Given the description of an element on the screen output the (x, y) to click on. 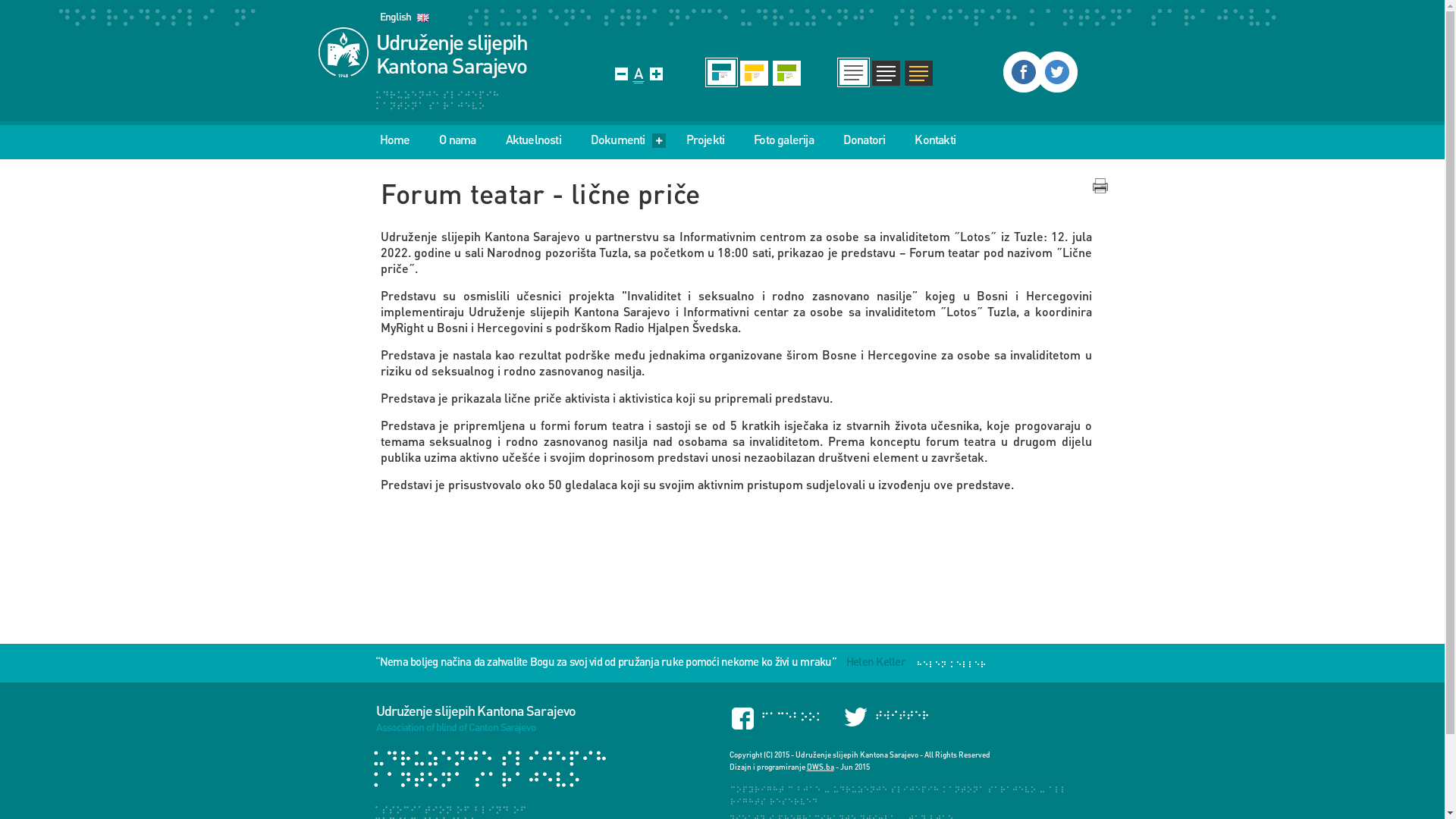
English Element type: text (403, 17)
Donatori Element type: text (864, 139)
Promjeni boju pozadine u Zelenu Element type: hover (786, 72)
Promjeni boju teksta u Crnu Element type: hover (853, 72)
DWS.ba Element type: text (820, 766)
Promjeni boju pozadine u Plavu Element type: hover (721, 72)
Projekti Element type: text (705, 139)
O nama Element type: text (457, 139)
Dokumenti Element type: text (637, 139)
Foto galerija Element type: text (783, 139)
Print Element type: hover (1099, 185)
Aktuelnosti Element type: text (533, 139)
Home Element type: text (394, 139)
Kontakti Element type: text (934, 139)
Smanji font teksta Element type: hover (620, 73)
Kraj menija Element type: hover (1107, 138)
Promjeni boju teksta u Bijelu Element type: hover (885, 72)
